Given the description of an element on the screen output the (x, y) to click on. 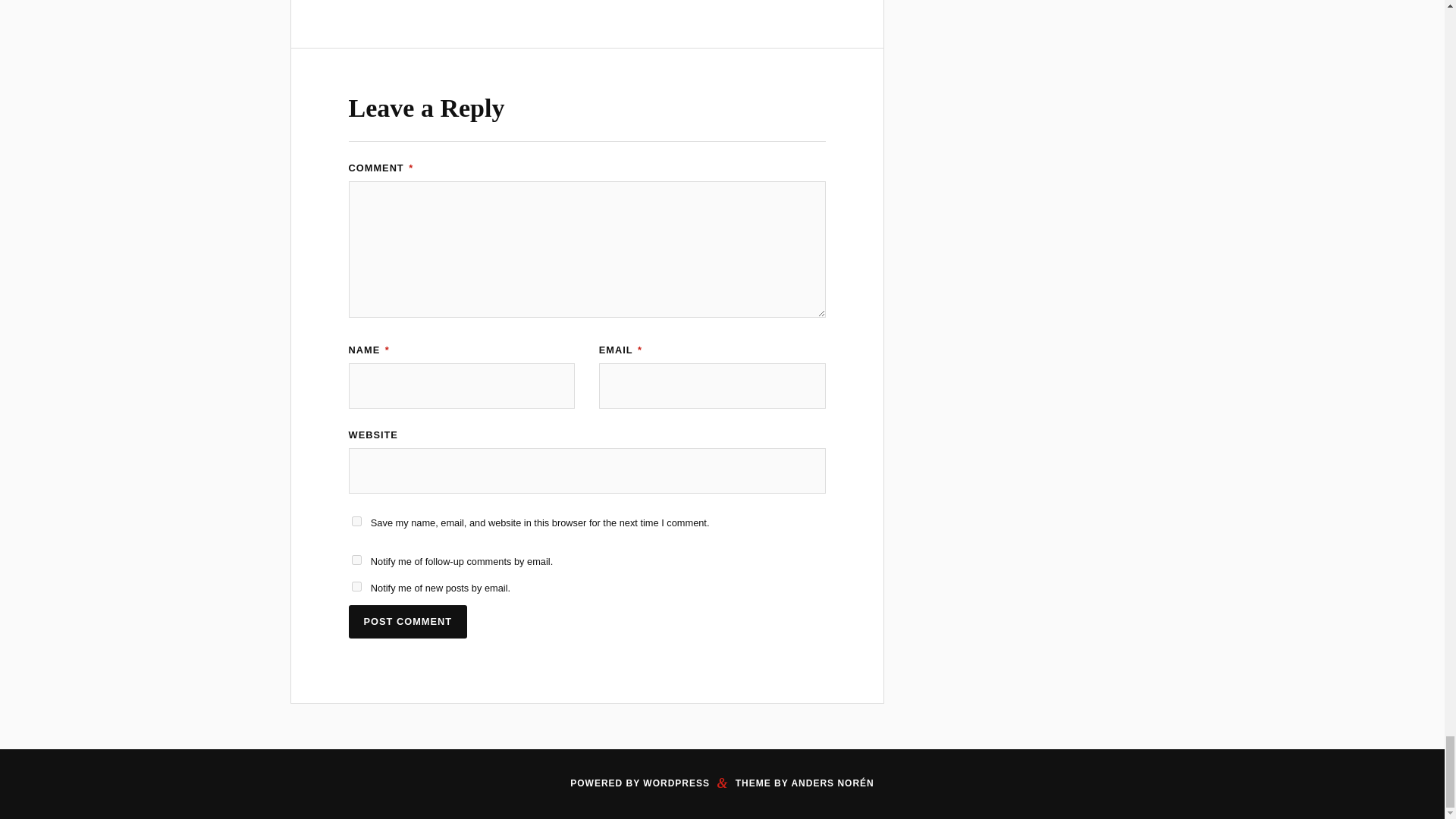
Post Comment (408, 622)
subscribe (356, 586)
yes (356, 521)
subscribe (356, 560)
